Given the description of an element on the screen output the (x, y) to click on. 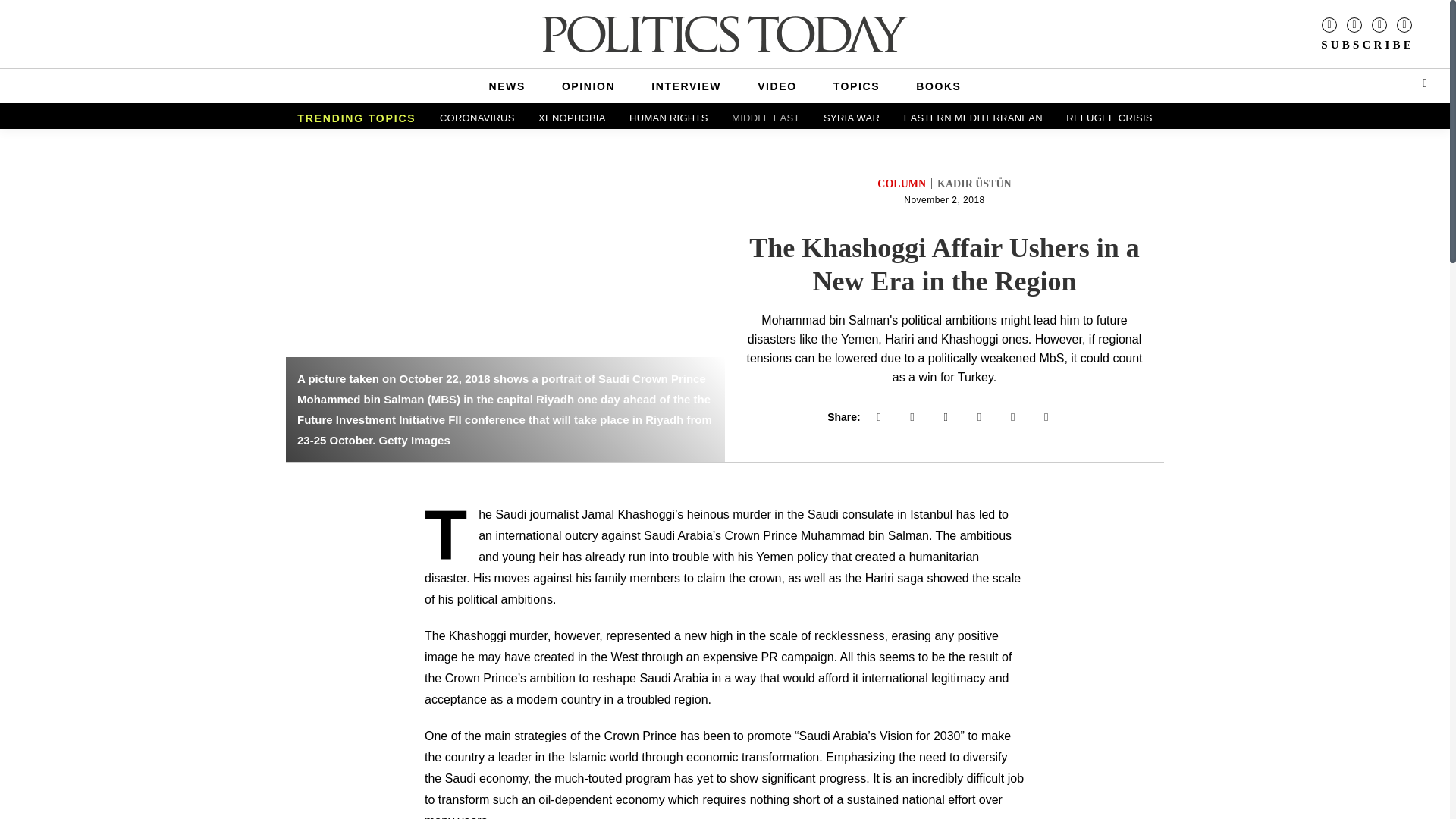
Instagram page opens in new window (1353, 23)
Instagram page opens in new window (1353, 23)
INTERVIEW (686, 85)
Facebook page opens in new window (1329, 23)
CORONAVIRUS (477, 118)
VIDEO (777, 85)
NEWS (506, 85)
X-Twitter page opens in new window (1379, 23)
YouTube page opens in new window (1404, 23)
YouTube page opens in new window (1404, 23)
XENOPHOBIA (571, 118)
Facebook page opens in new window (1329, 23)
SYRIA WAR (850, 118)
BOOKS (938, 85)
EASTERN MEDITERRANEAN (973, 118)
